Given the description of an element on the screen output the (x, y) to click on. 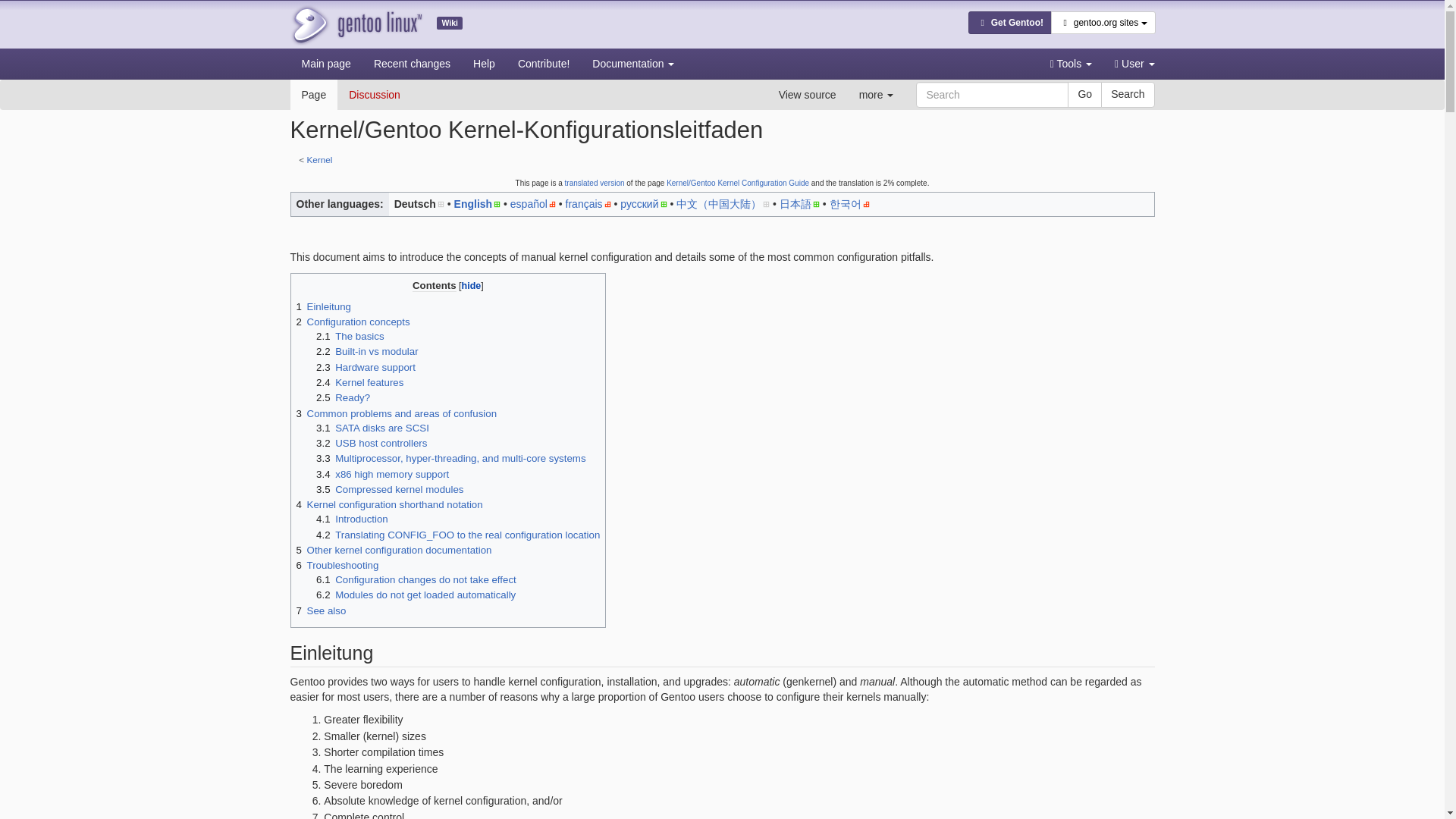
The place to find out (483, 63)
Get Gentoo! (1009, 22)
Documentation (632, 63)
Help (483, 63)
Main page (325, 63)
Go (1084, 94)
Back to the homepage (356, 24)
Contribute! (543, 63)
Tools (1071, 63)
Recent changes (411, 63)
Search (1127, 94)
Go (1084, 94)
User (1134, 63)
gentoo.org sites (1103, 22)
Search (1127, 94)
